Given the description of an element on the screen output the (x, y) to click on. 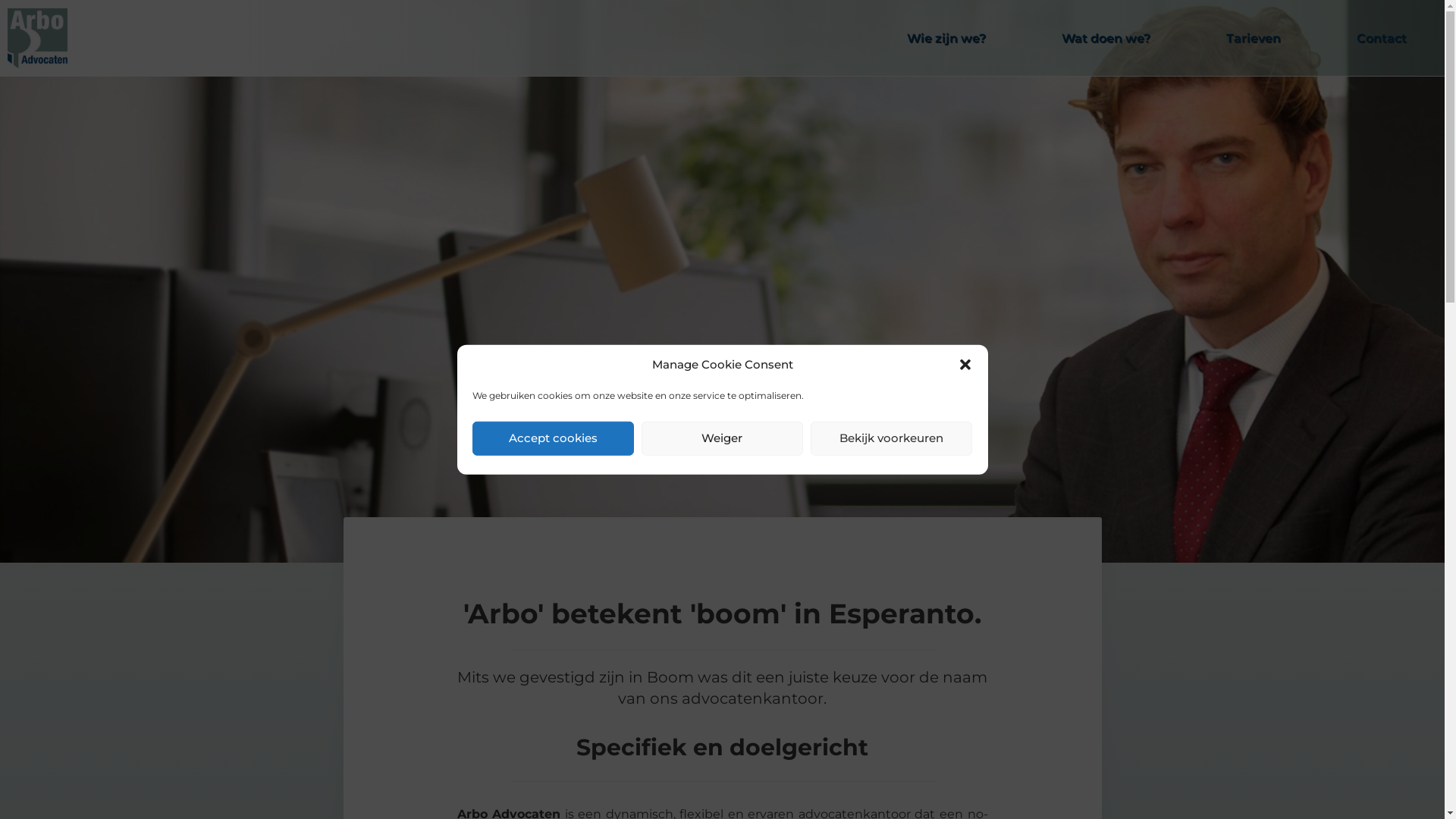
Arbo Advocaten Element type: hover (37, 37)
Wie zijn we? Element type: text (946, 38)
Arbo Advocaten Element type: hover (41, 37)
Contact Element type: text (1381, 38)
Accept cookies Element type: text (552, 437)
Wat doen we? Element type: text (1105, 38)
Tarieven Element type: text (1253, 38)
Weiger Element type: text (722, 437)
Bekijk voorkeuren Element type: text (891, 437)
